Given the description of an element on the screen output the (x, y) to click on. 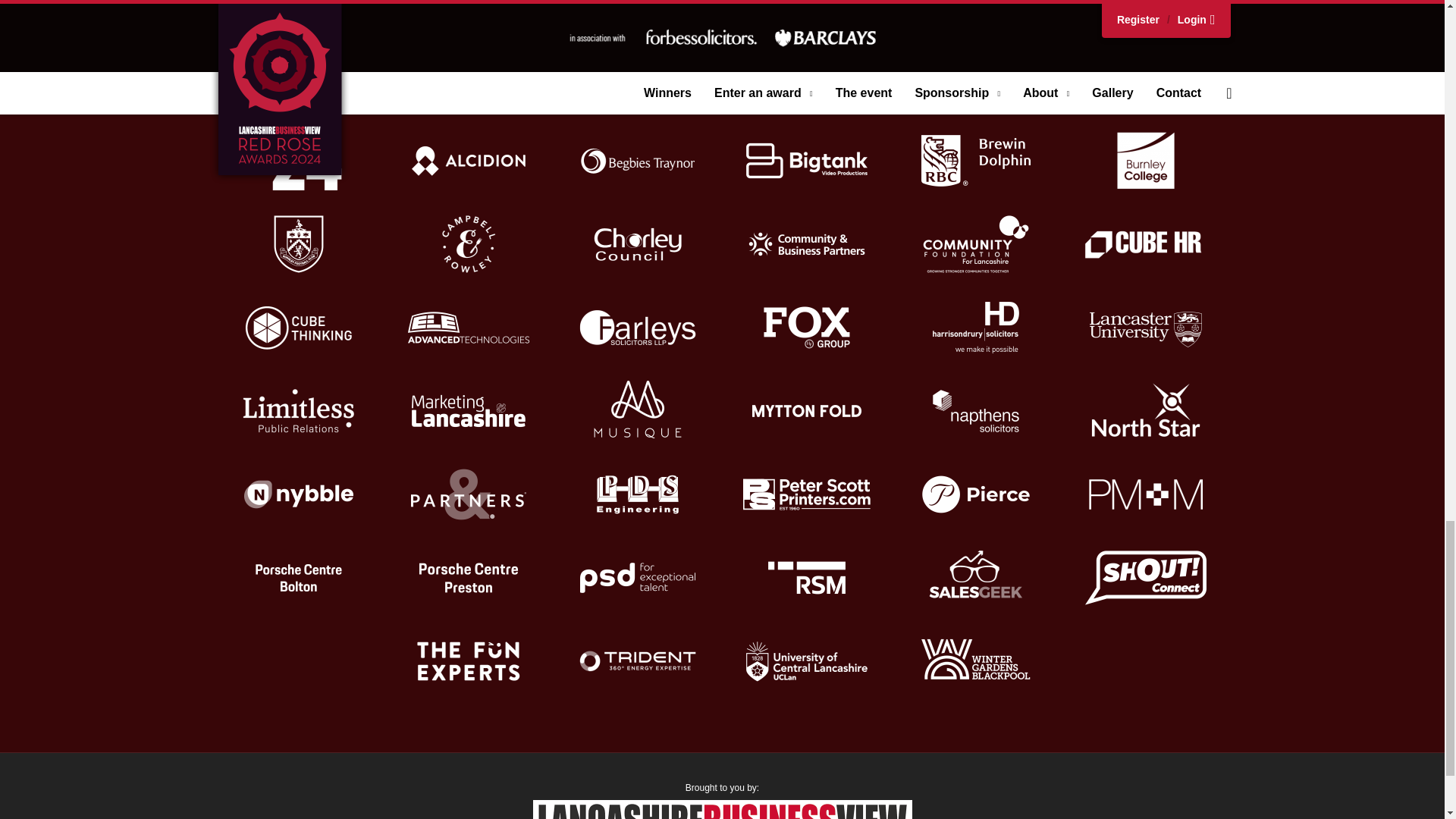
Burnley Football Club (299, 243)
Chorley Borough Council (637, 243)
Begbies Traynor (637, 160)
Alcidion (468, 160)
Bigtank (806, 160)
Burnley College  (1145, 160)
Brewin Dolphin (976, 160)
Community and Business Partners (806, 243)
